Given the description of an element on the screen output the (x, y) to click on. 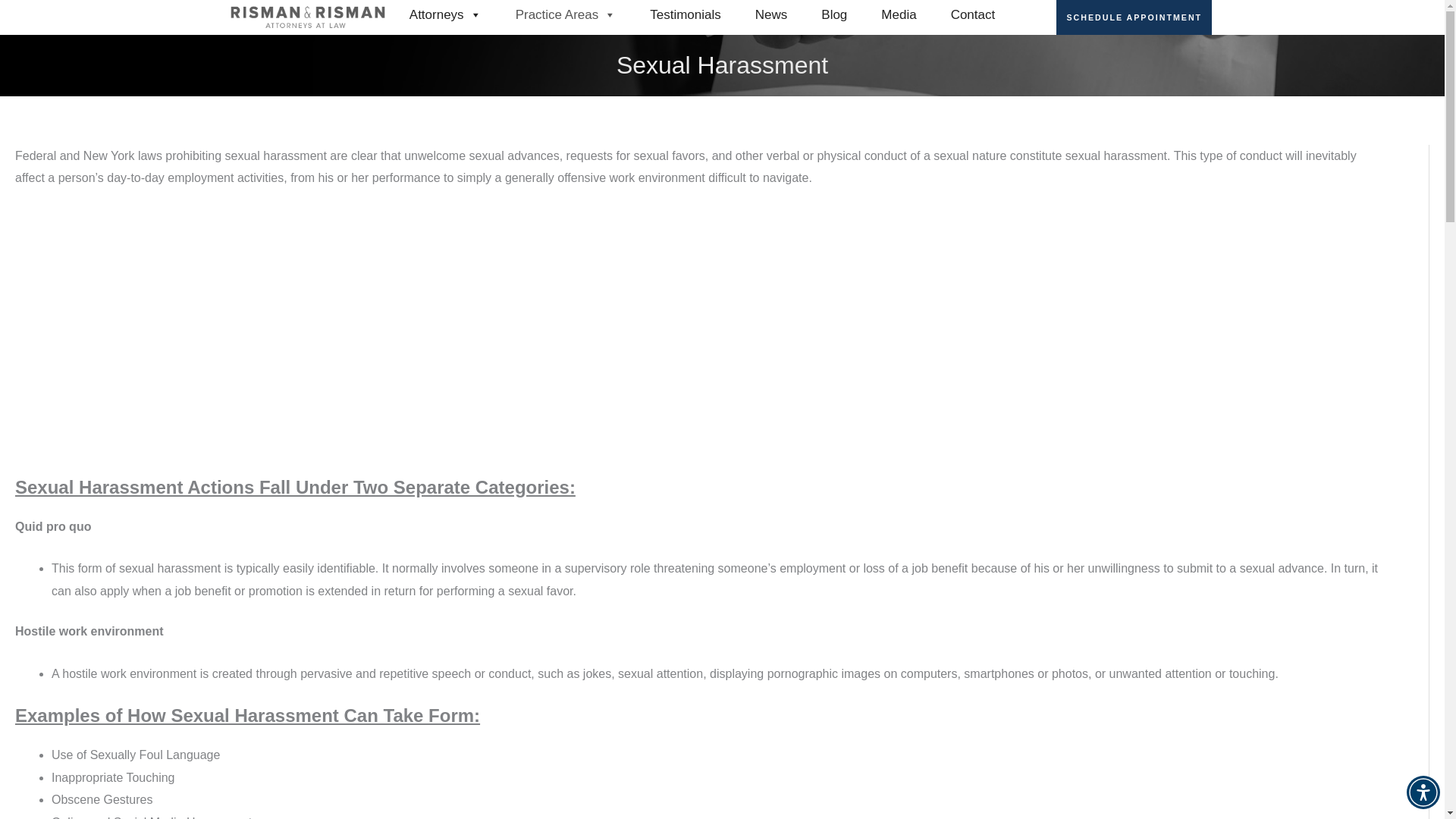
Blog (833, 15)
SCHEDULE APPOINTMENT (1134, 17)
Testimonials (685, 15)
Practice Areas (566, 15)
News (771, 15)
Accessibility Menu (1422, 792)
Media (898, 15)
Contact (973, 15)
Attorneys (445, 15)
